Given the description of an element on the screen output the (x, y) to click on. 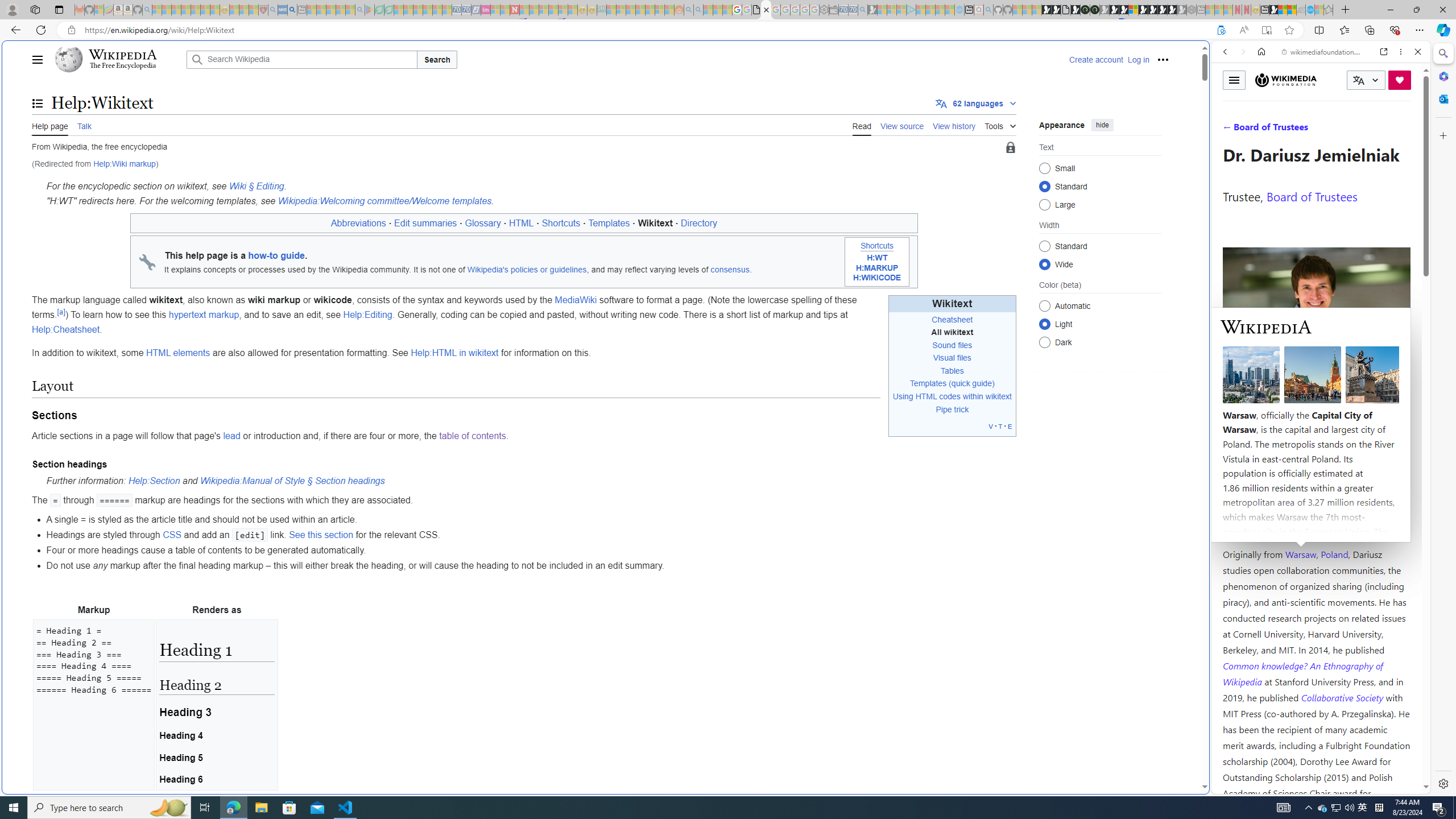
Talk (84, 124)
Create account (1095, 58)
Page semi-protected (1010, 147)
Collaborative Society  (1343, 697)
Light (1044, 323)
Renders as (216, 609)
Donate now (1399, 80)
